Given the description of an element on the screen output the (x, y) to click on. 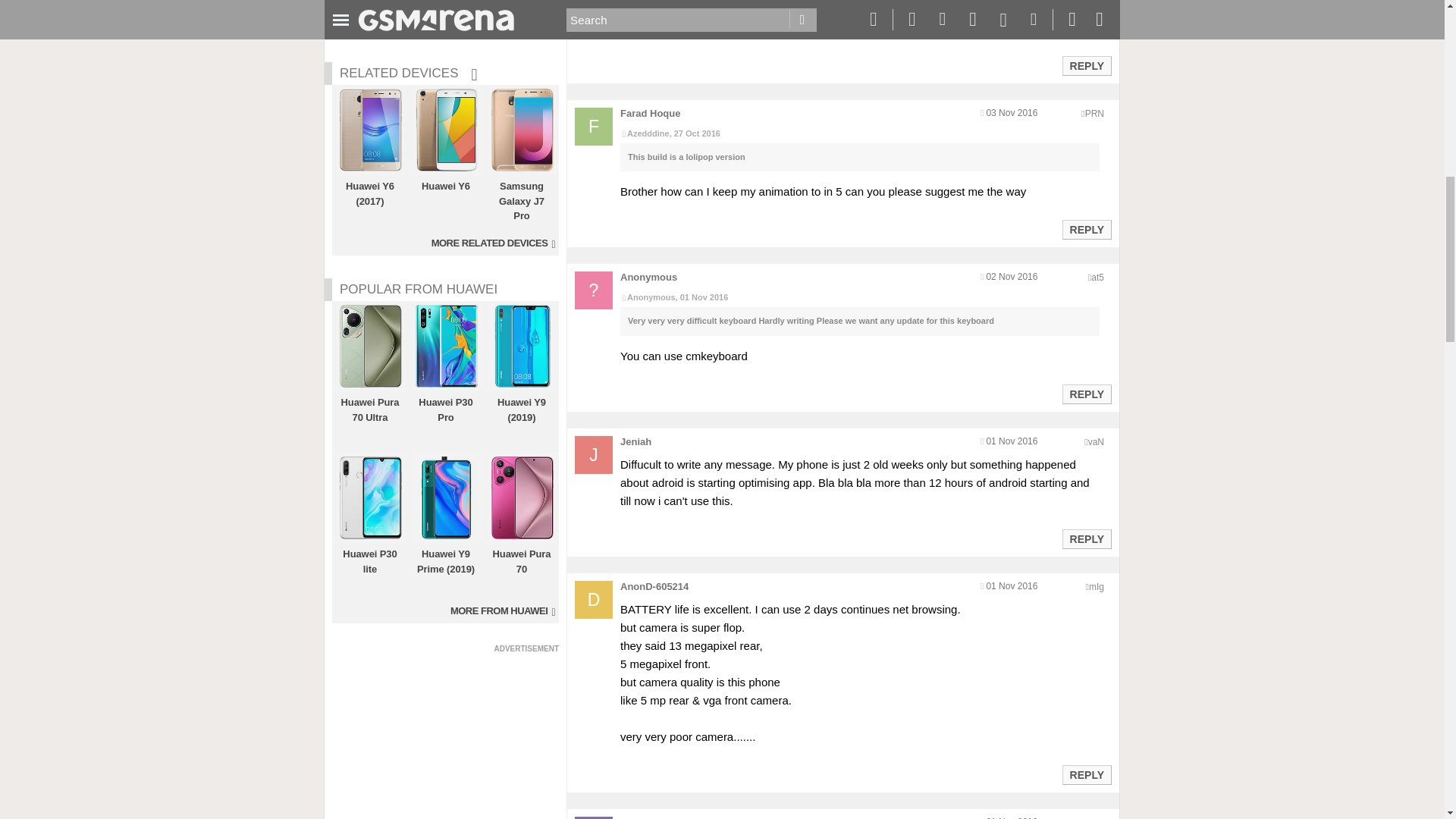
Encoded anonymized location (1096, 586)
Encoded anonymized location (1093, 113)
Reply to this post (1086, 394)
Encoded anonymized location (1096, 276)
Encoded anonymized location (1095, 441)
Reply to this post (1086, 65)
Reply to this post (1086, 229)
Reply to this post (1086, 539)
